Given the description of an element on the screen output the (x, y) to click on. 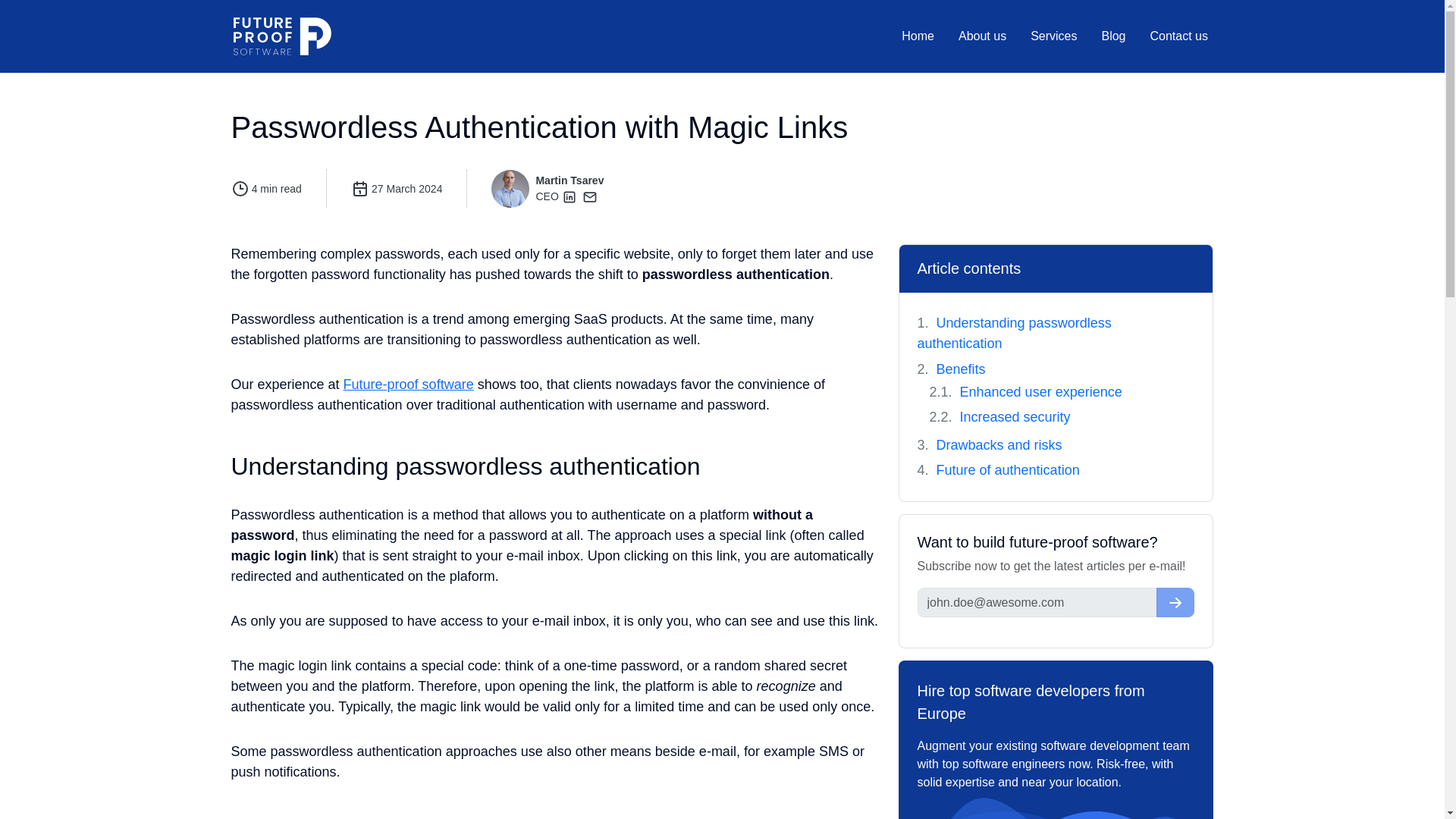
Drawbacks and risks (999, 444)
About us (982, 35)
Enhanced user experience (1040, 391)
Understanding passwordless authentication (1014, 333)
Increased security (1014, 417)
Future of authentication (1008, 469)
Future-proof Software (282, 36)
Contact us (1179, 35)
Future-proof software (408, 384)
Services (1053, 35)
